Given the description of an element on the screen output the (x, y) to click on. 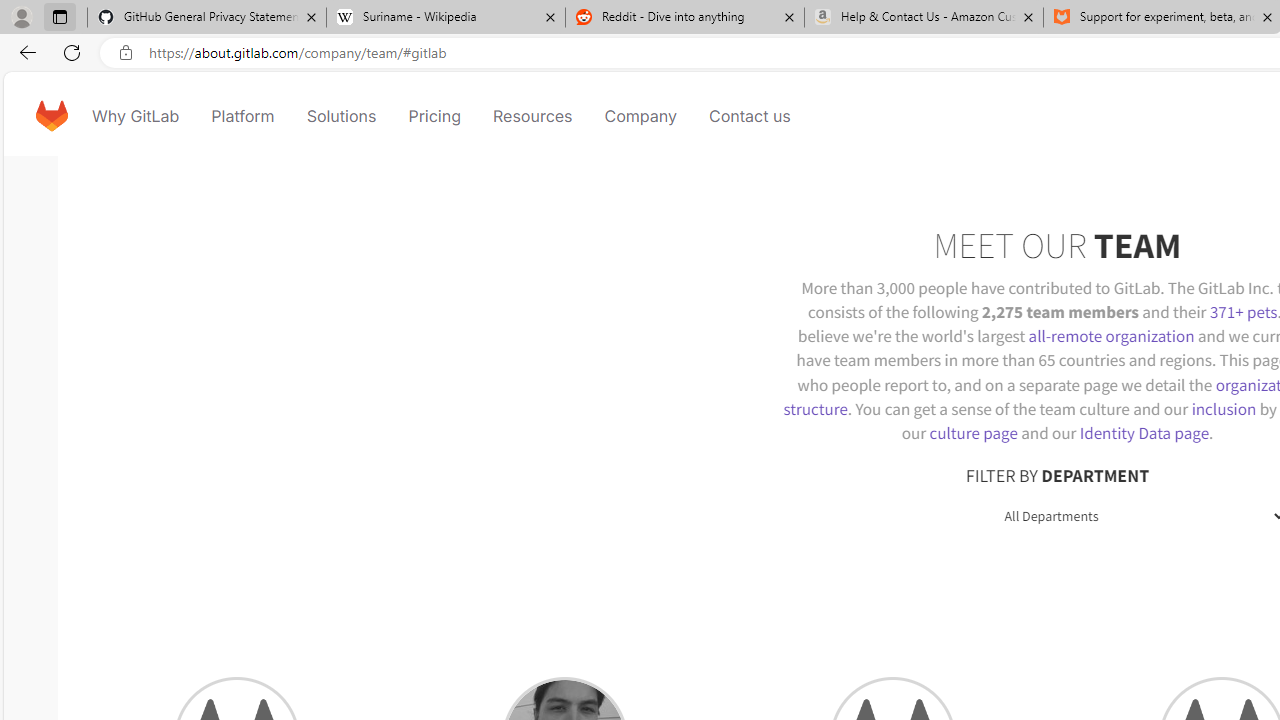
Platform (242, 115)
Suriname - Wikipedia (445, 17)
GitLab home page (51, 115)
Help & Contact Us - Amazon Customer Service - Sleeping (924, 17)
inclusion (1223, 408)
Pricing (433, 115)
Why GitLab (136, 115)
Company (640, 115)
371+ pets (1243, 311)
GitHub General Privacy Statement - GitHub Docs (207, 17)
Contact us (749, 115)
